Given the description of an element on the screen output the (x, y) to click on. 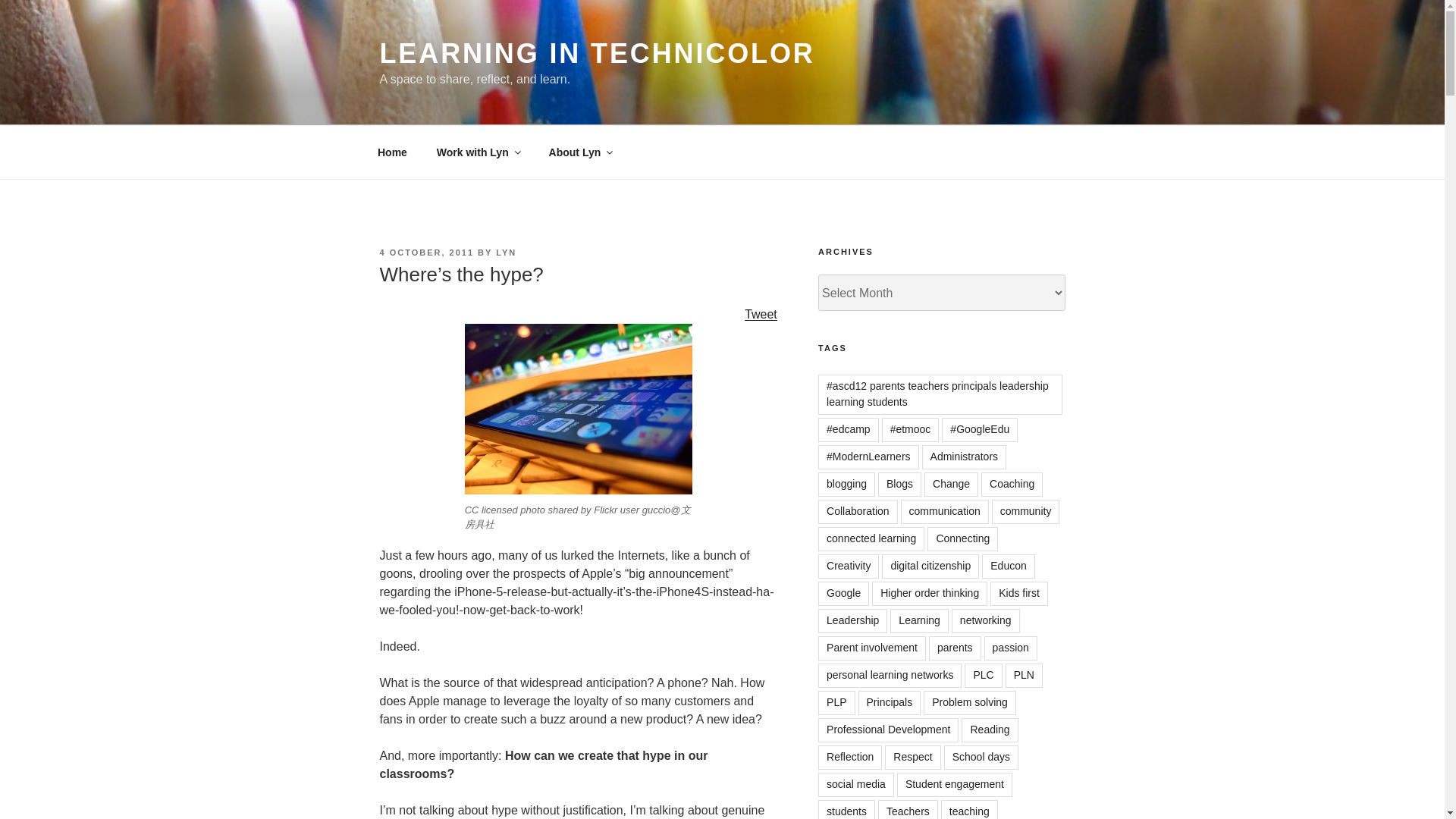
LEARNING IN TECHNICOLOR (595, 52)
Work with Lyn (477, 151)
About Lyn (579, 151)
4 OCTOBER, 2011 (426, 252)
Home (392, 151)
LYN (506, 252)
Tweet (760, 314)
